Given the description of an element on the screen output the (x, y) to click on. 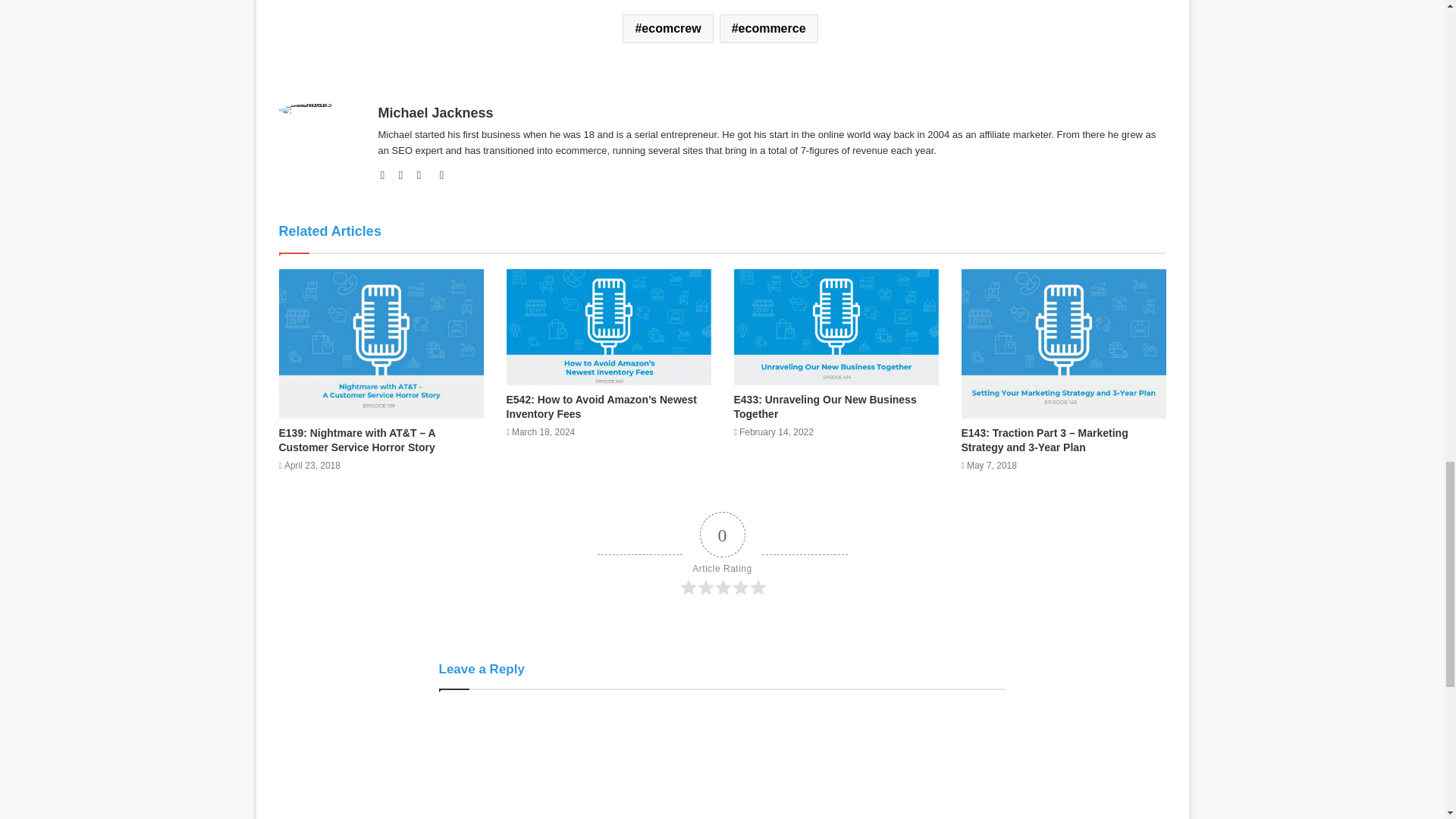
Comment Form (722, 762)
